Given the description of an element on the screen output the (x, y) to click on. 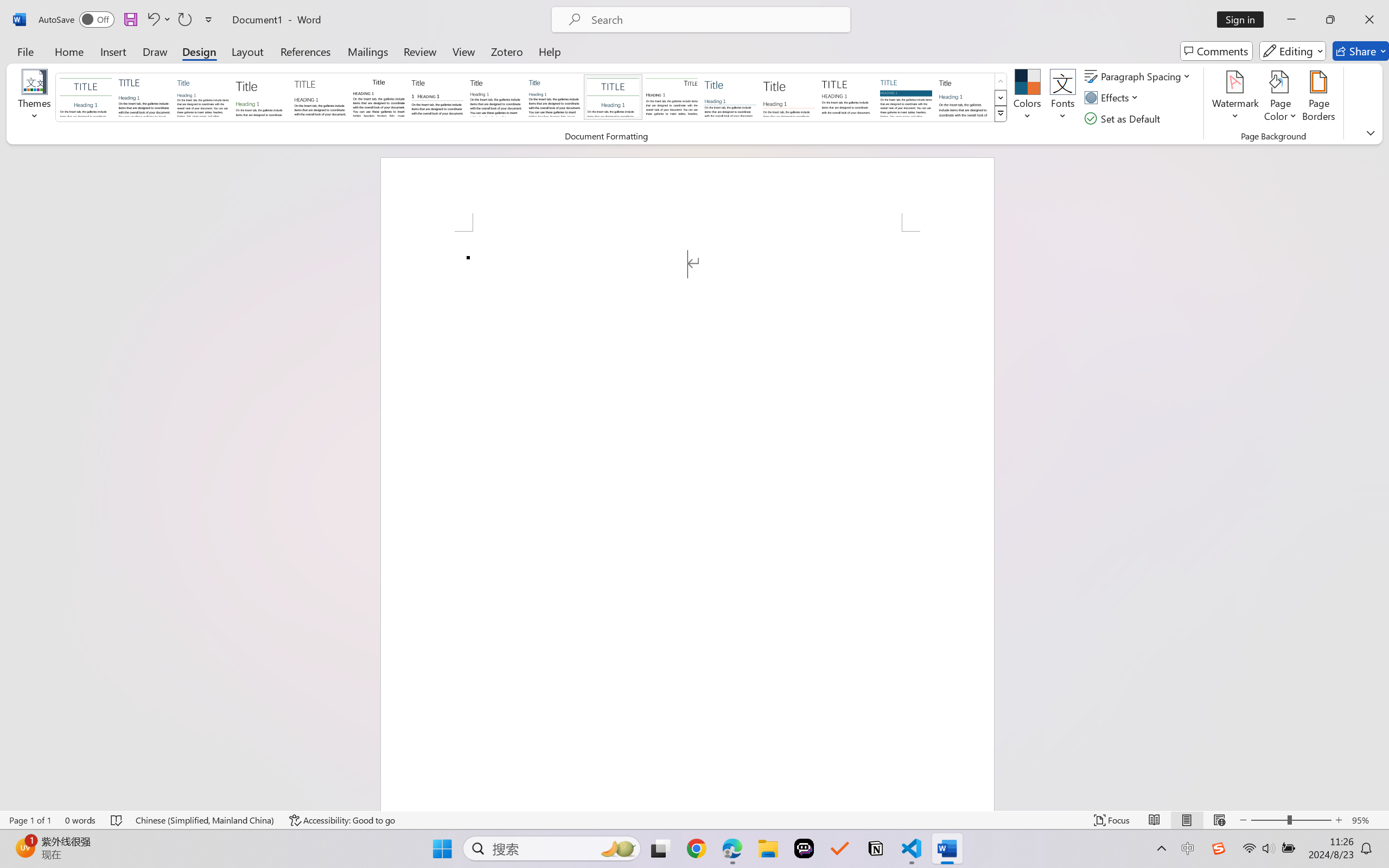
Black & White (Numbered) (437, 96)
Colors (1027, 97)
Undo Apply Quick Style Set (152, 19)
